Given the description of an element on the screen output the (x, y) to click on. 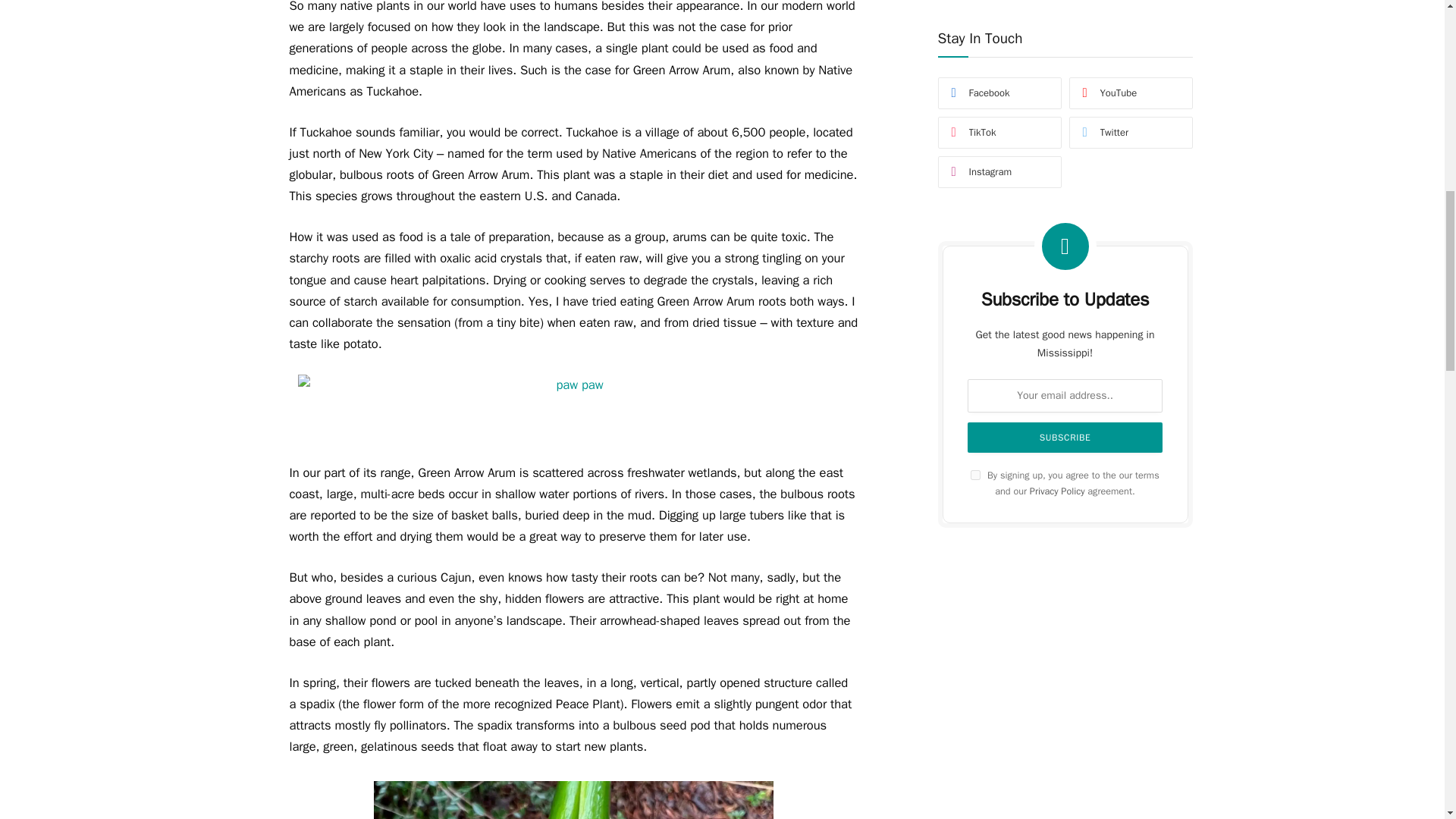
Subscribe (1064, 3)
on (975, 30)
